Given the description of an element on the screen output the (x, y) to click on. 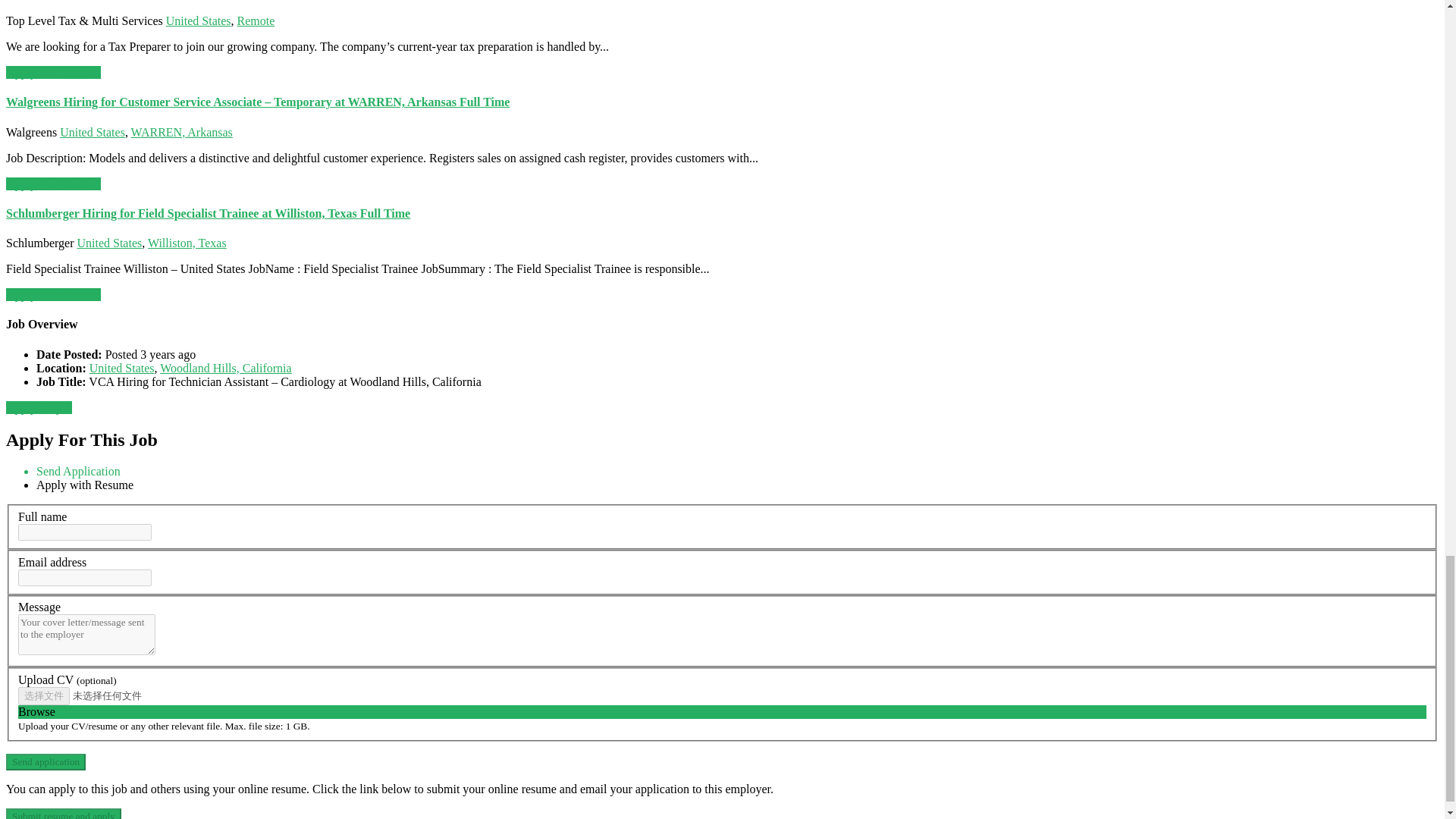
Send application (45, 761)
